Given the description of an element on the screen output the (x, y) to click on. 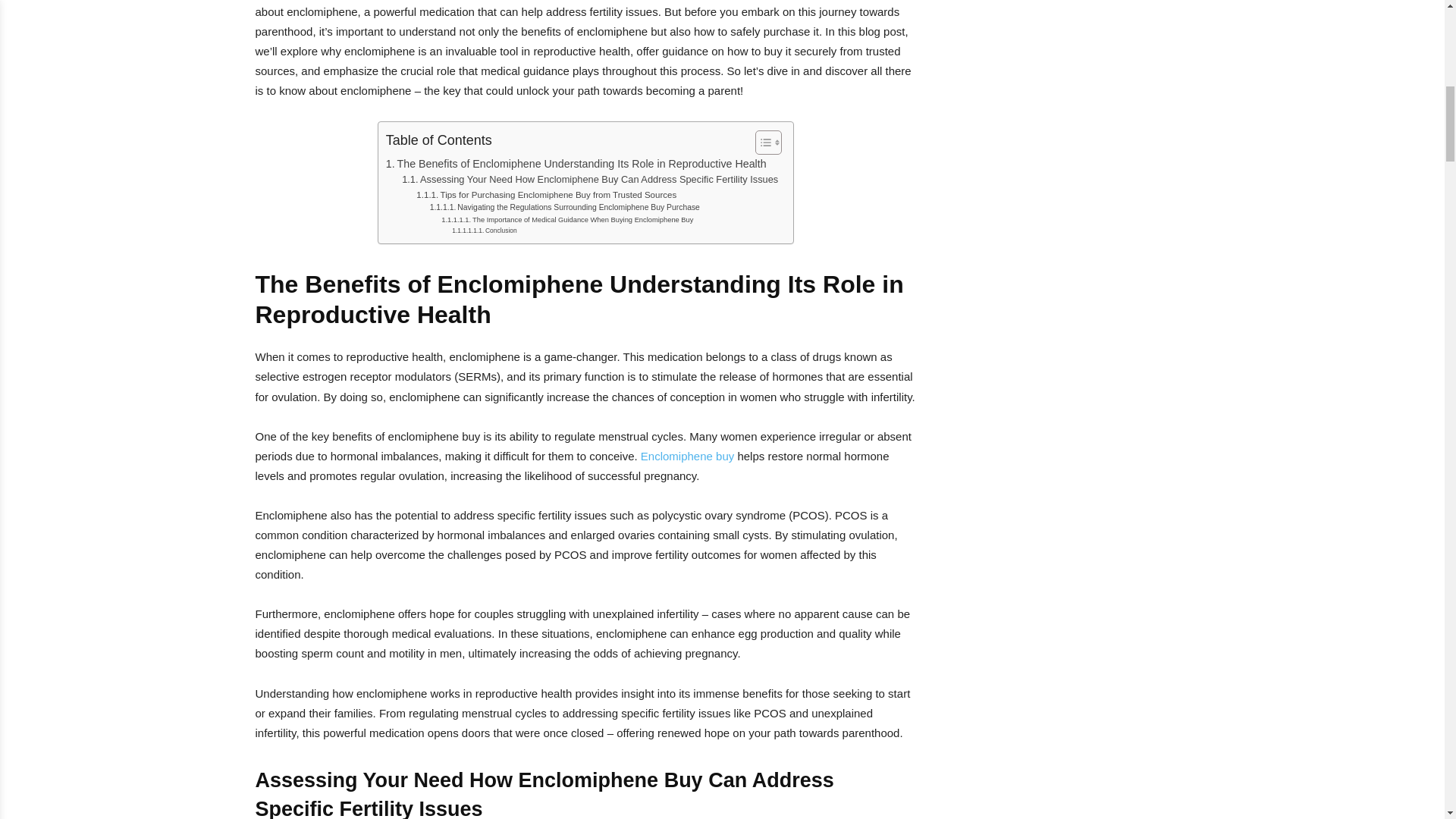
Tips for Purchasing Enclomiphene Buy from Trusted Sources (546, 194)
Tips for Purchasing Enclomiphene Buy from Trusted Sources (546, 194)
